Given the description of an element on the screen output the (x, y) to click on. 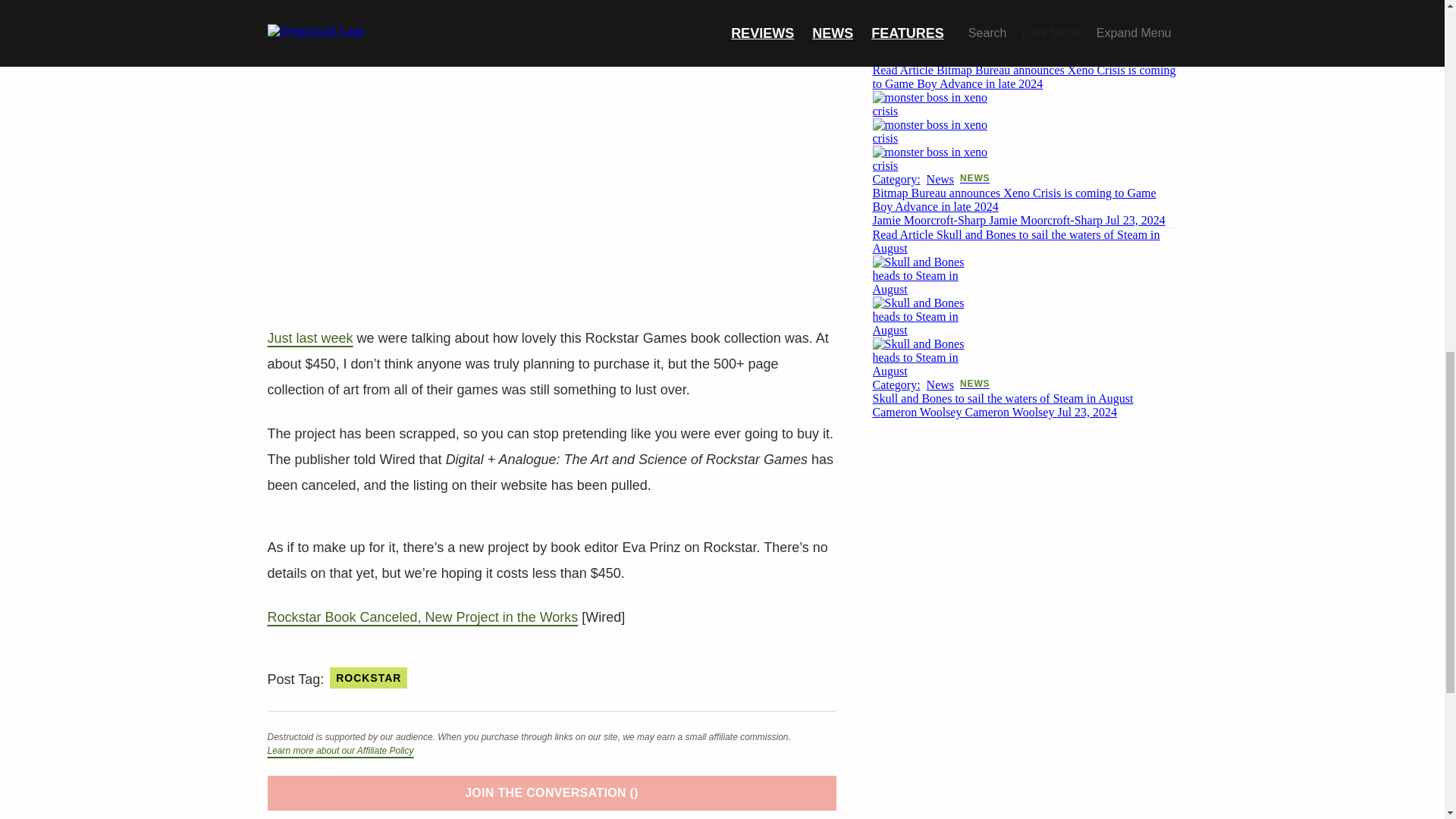
Just last week (309, 337)
Rockstar Book Canceled, New Project in the Works (422, 616)
